Given the description of an element on the screen output the (x, y) to click on. 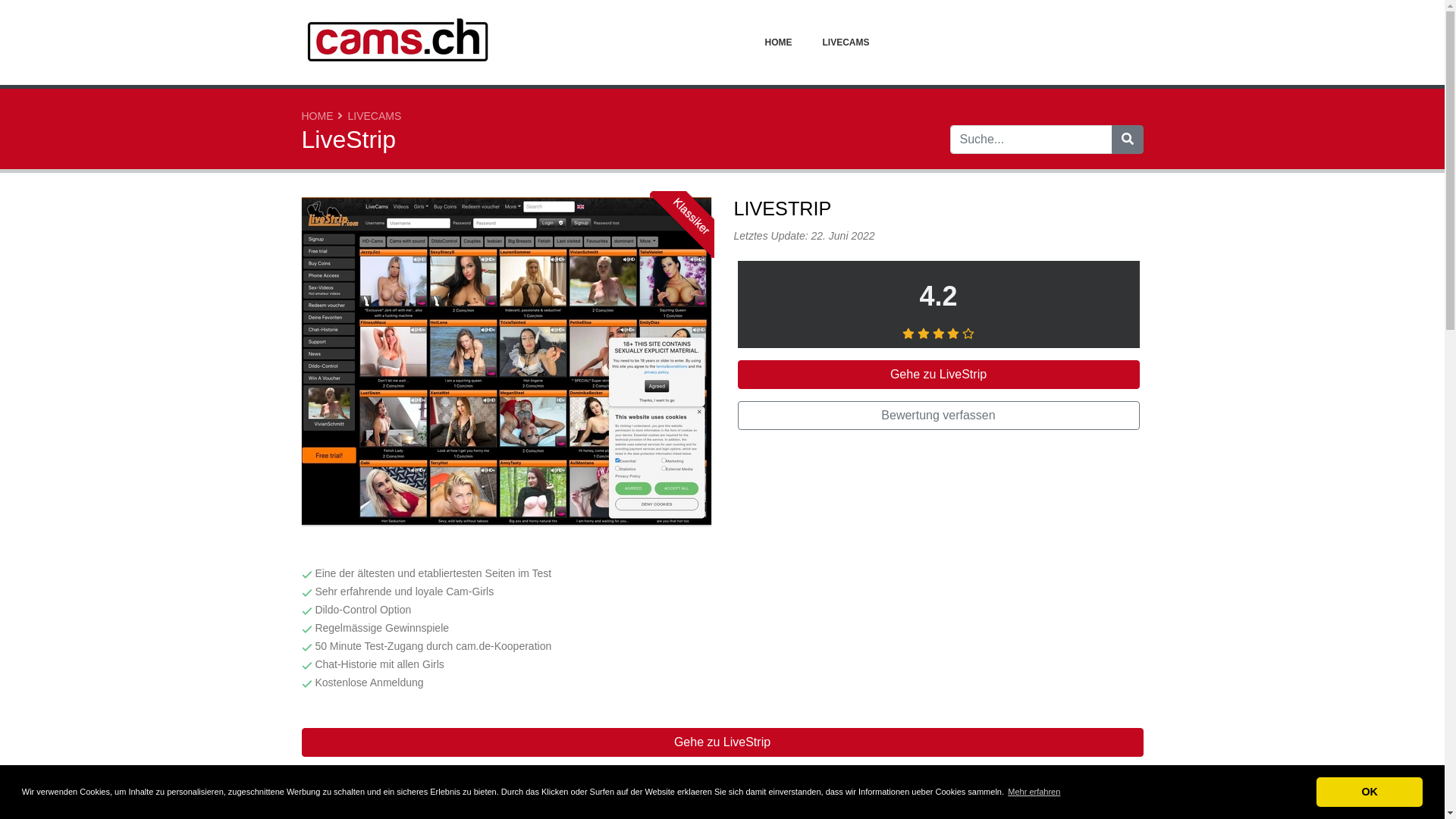
OK Element type: text (1369, 791)
HOME Element type: text (777, 41)
Gehe zu LiveStrip Element type: text (722, 742)
cams.ch Element type: hover (396, 42)
Bewertung verfassen Element type: text (938, 415)
Go to top Element type: hover (1403, 785)
HOME Element type: text (317, 115)
Mehr erfahren Element type: text (1033, 791)
LIVECAMS Element type: text (845, 41)
LIVECAMS Element type: text (374, 115)
Gehe zu LiveStrip Element type: text (938, 374)
Gehe zu LiveStrip Element type: hover (506, 363)
Bewertung: 4.2 Element type: hover (938, 334)
